Given the description of an element on the screen output the (x, y) to click on. 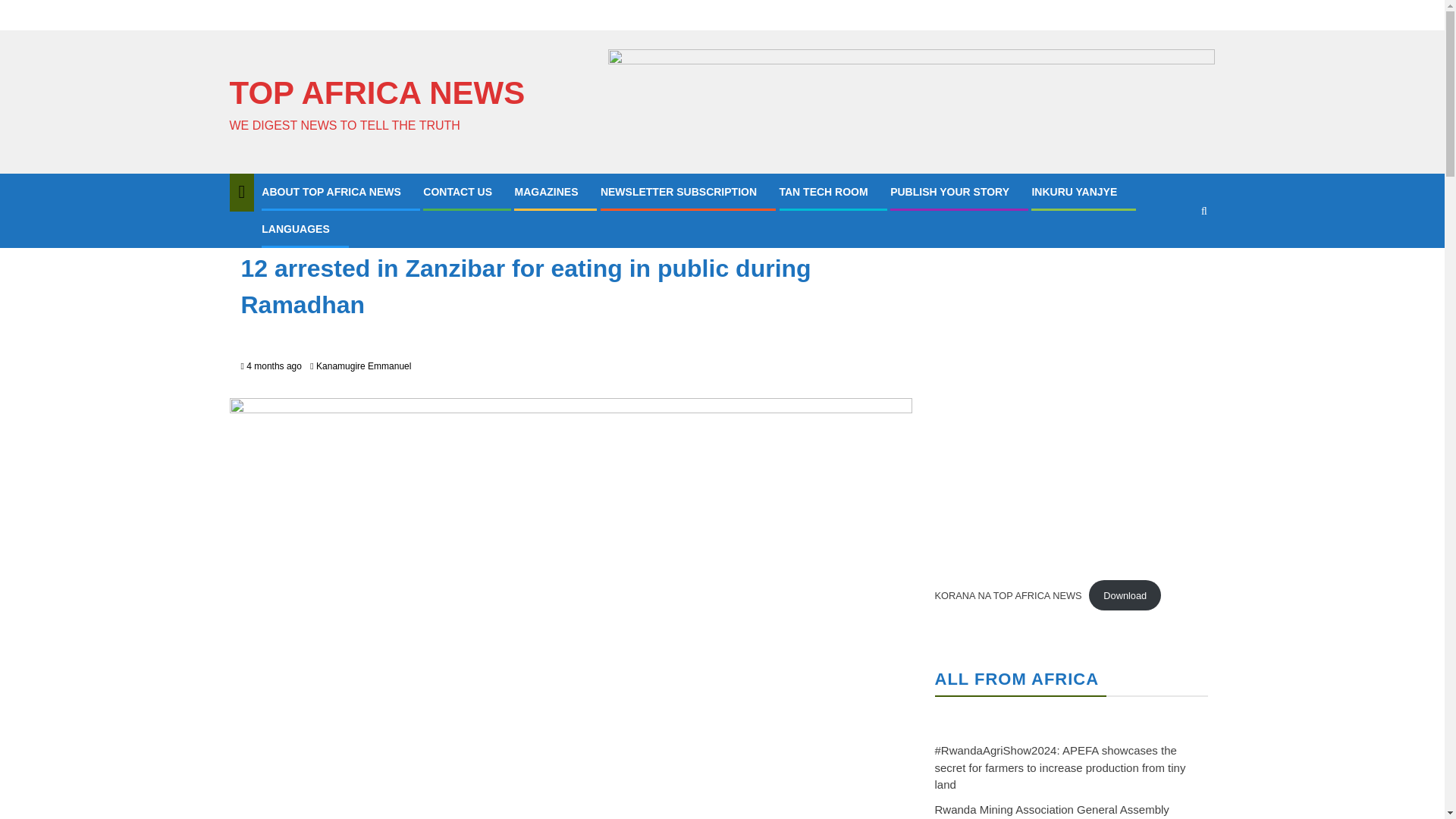
PUBLISH YOUR STORY (949, 191)
LANGUAGES (295, 228)
Search (1174, 256)
MAGAZINES (545, 191)
CONTACT US (457, 191)
TAN TECH ROOM (822, 191)
Kanamugire Emmanuel (362, 366)
ABOUT TOP AFRICA NEWS (331, 191)
INKURU YANJYE (1073, 191)
ACTUALITE (270, 233)
NEWSLETTER SUBSCRIPTION (678, 191)
TOP AFRICA NEWS (376, 92)
